Given the description of an element on the screen output the (x, y) to click on. 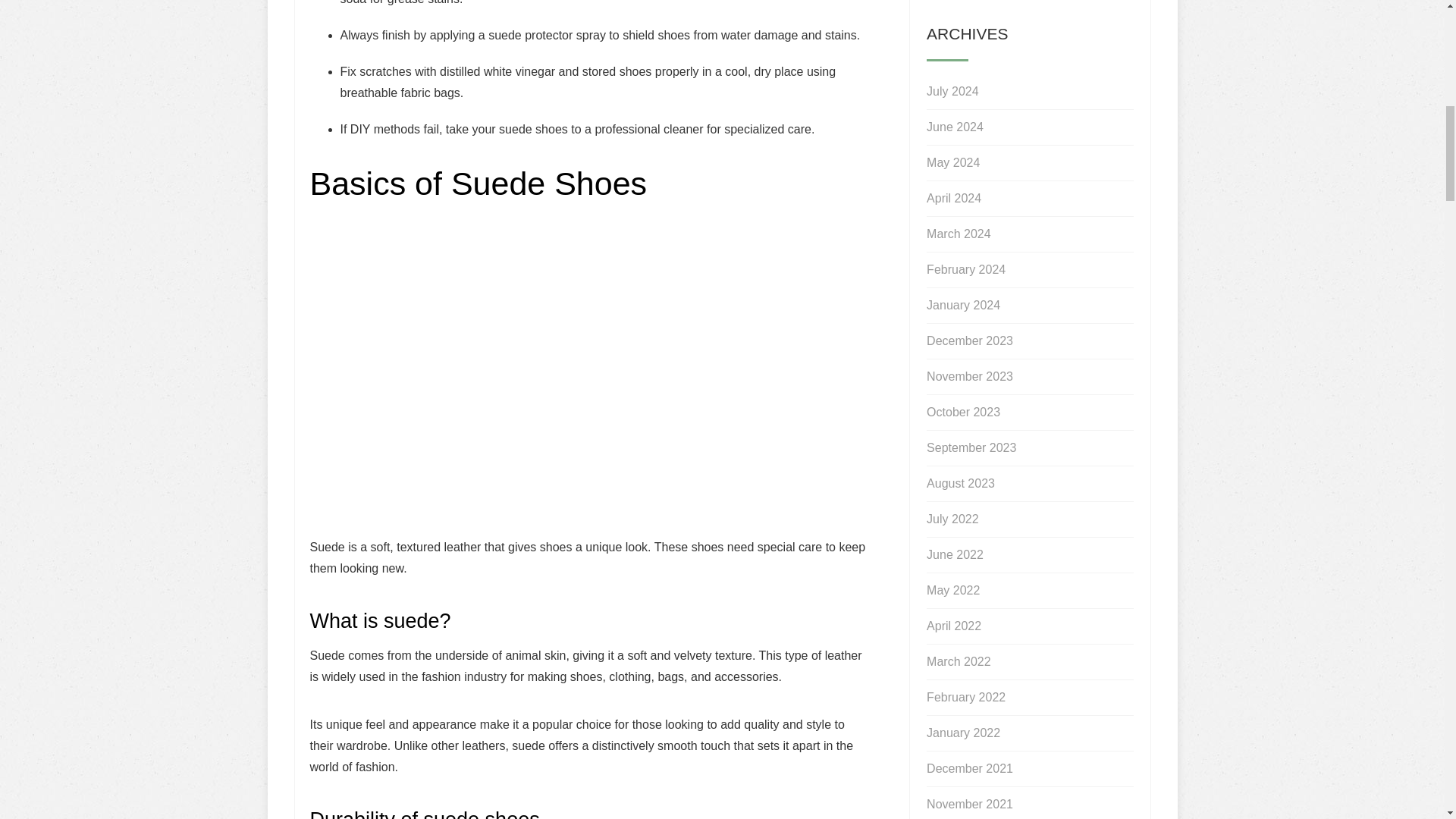
January 2024 (963, 305)
November 2023 (969, 376)
September 2023 (971, 448)
March 2022 (958, 661)
October 2023 (963, 411)
August 2023 (960, 483)
April 2024 (953, 198)
July 2022 (952, 519)
April 2022 (953, 626)
May 2022 (952, 590)
March 2024 (958, 234)
June 2024 (955, 126)
February 2024 (966, 269)
December 2021 (969, 768)
January 2022 (963, 733)
